Given the description of an element on the screen output the (x, y) to click on. 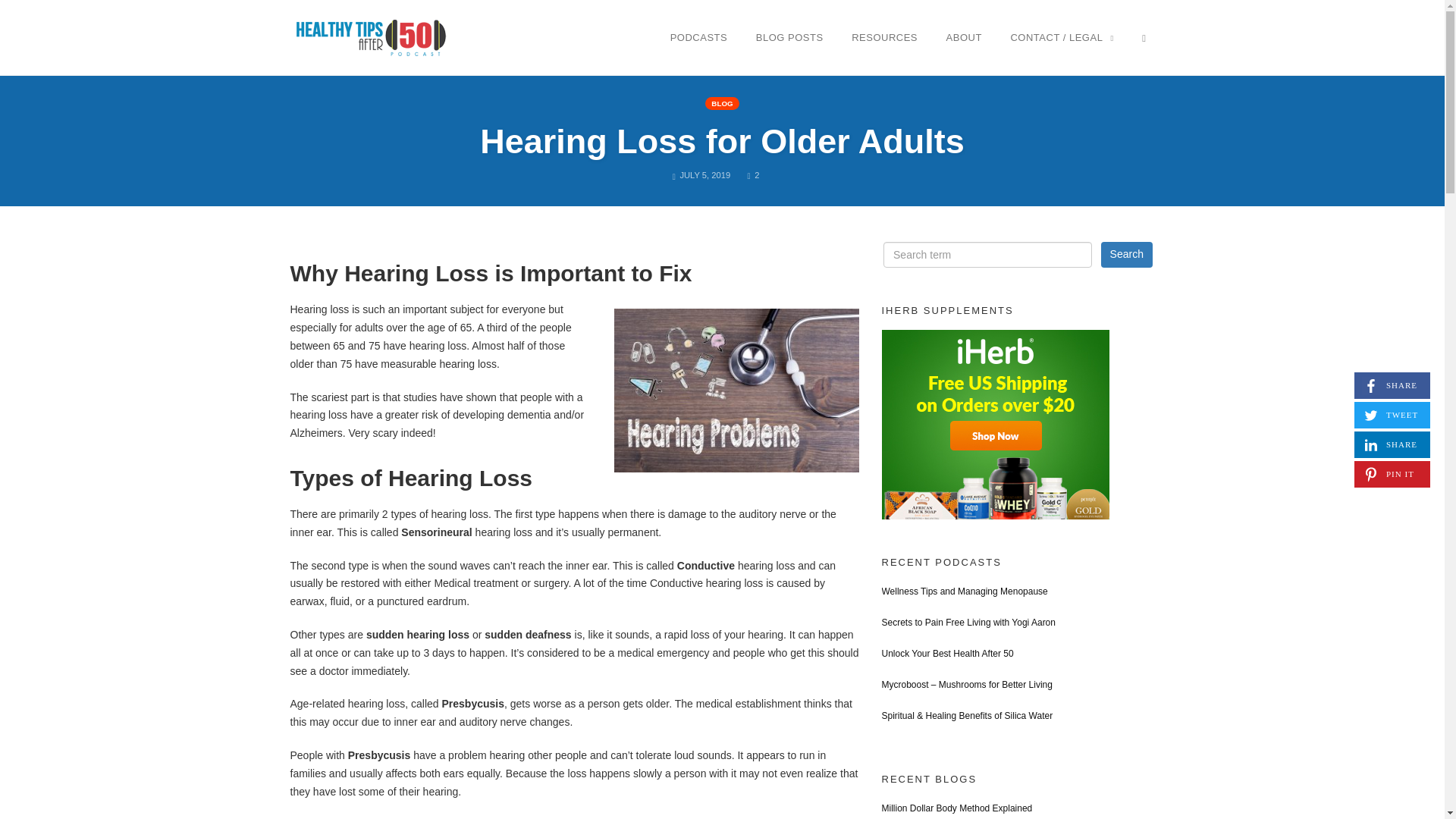
ABOUT (963, 37)
Search (1126, 254)
Wellness Tips and Managing Menopause (963, 591)
OPEN SEARCH FORM (1144, 37)
PODCASTS (699, 37)
Unlock Your Best Health After 50 (946, 653)
Search (1126, 254)
Secrets to Pain Free Living with Yogi Aaron (967, 622)
BLOG (1391, 444)
